Given the description of an element on the screen output the (x, y) to click on. 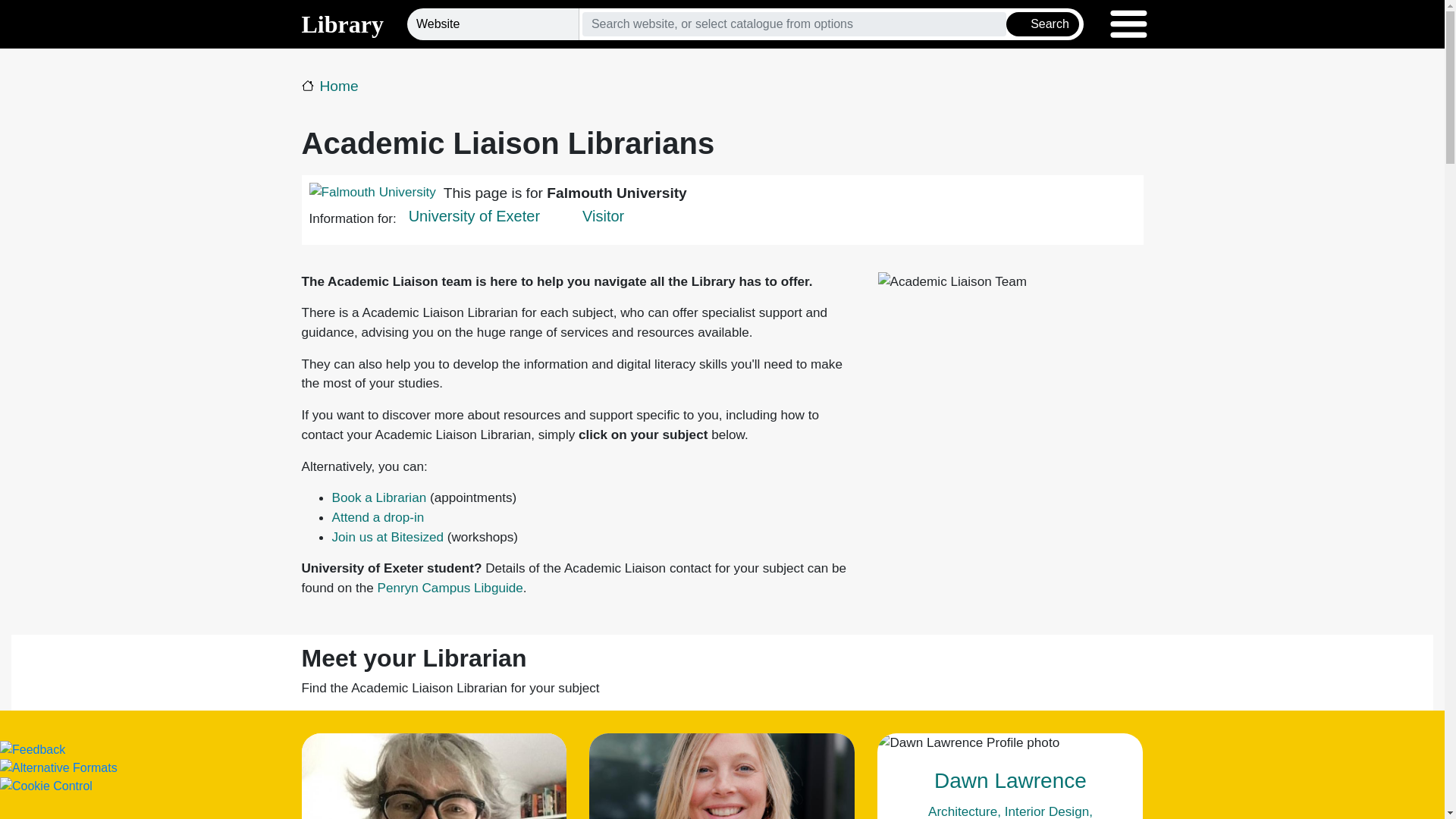
Search (1042, 24)
Skip to main content (721, 1)
Feedback (32, 748)
Search (1042, 24)
Accessibility (58, 766)
Book a Librarian (378, 497)
Home (342, 23)
Architecture, Interior Design, Sustainable Product Design (1010, 811)
Visitor (604, 216)
Join us at Bitesized (387, 536)
Penryn Campus Libguide (449, 587)
Cookie Control (46, 784)
University of Exeter (475, 216)
Attend a drop-in (378, 516)
Home (329, 85)
